Given the description of an element on the screen output the (x, y) to click on. 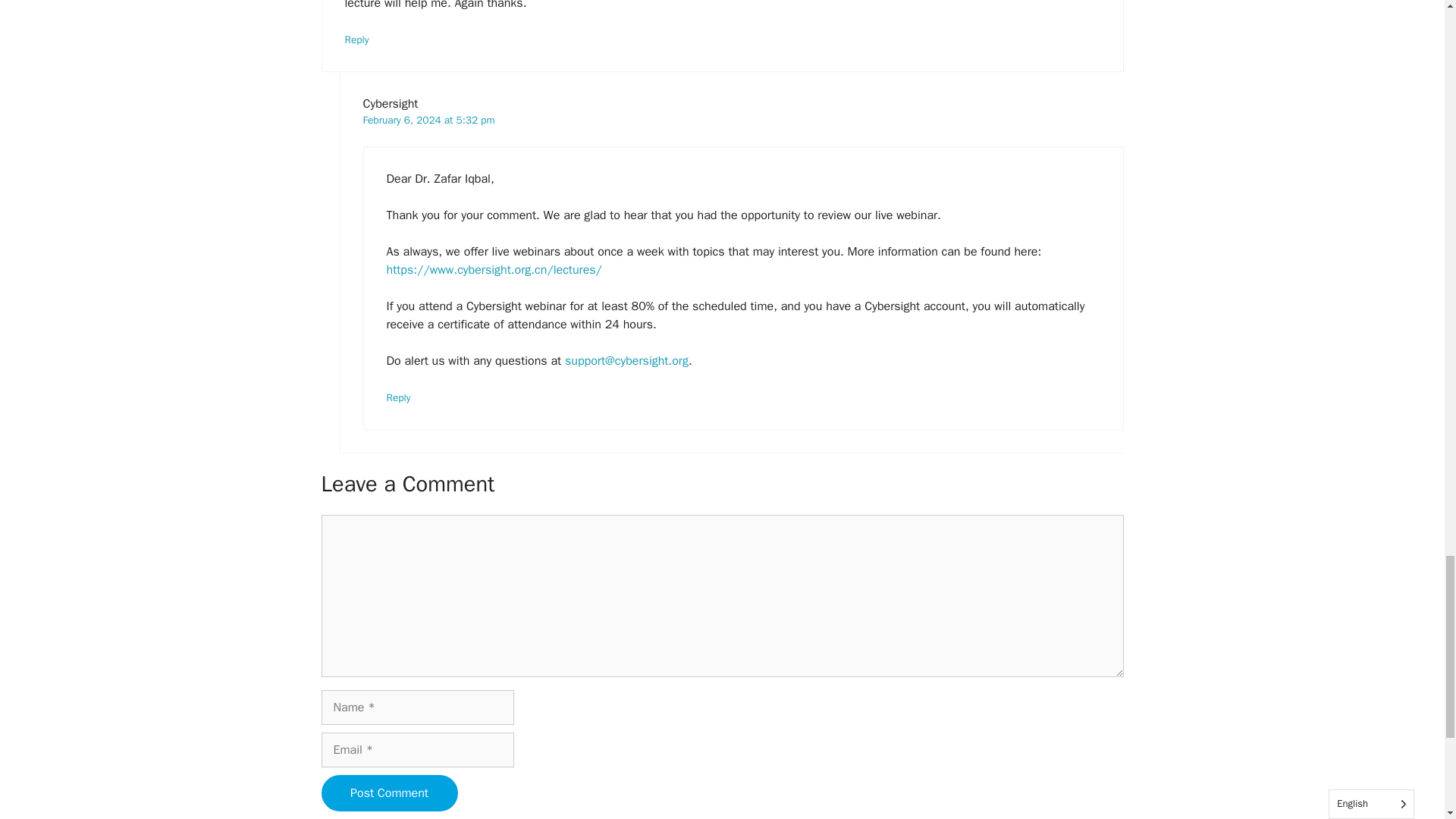
Post Comment (389, 792)
Post Comment (389, 792)
Reply (398, 397)
February 6, 2024 at 5:32 pm (428, 119)
Reply (355, 39)
